Given the description of an element on the screen output the (x, y) to click on. 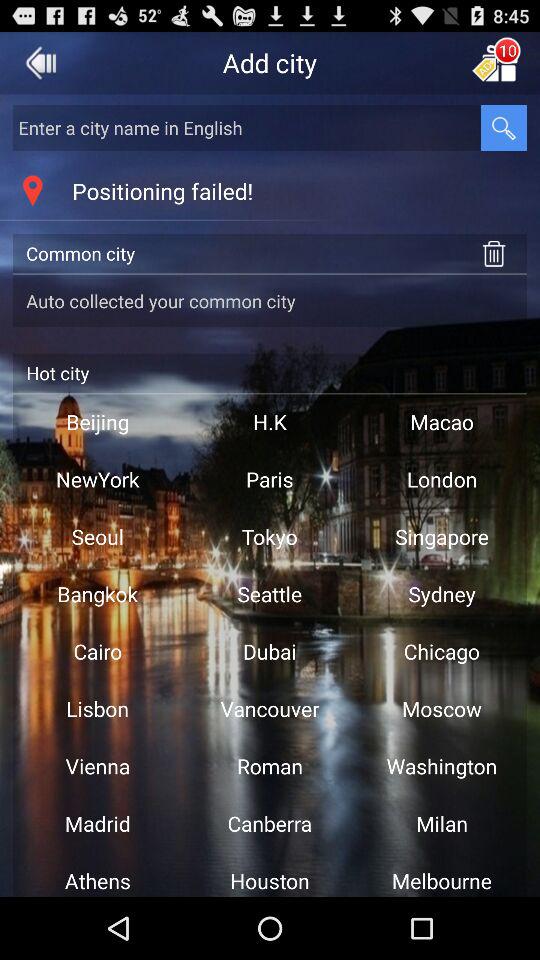
choose app next to add city (41, 62)
